Given the description of an element on the screen output the (x, y) to click on. 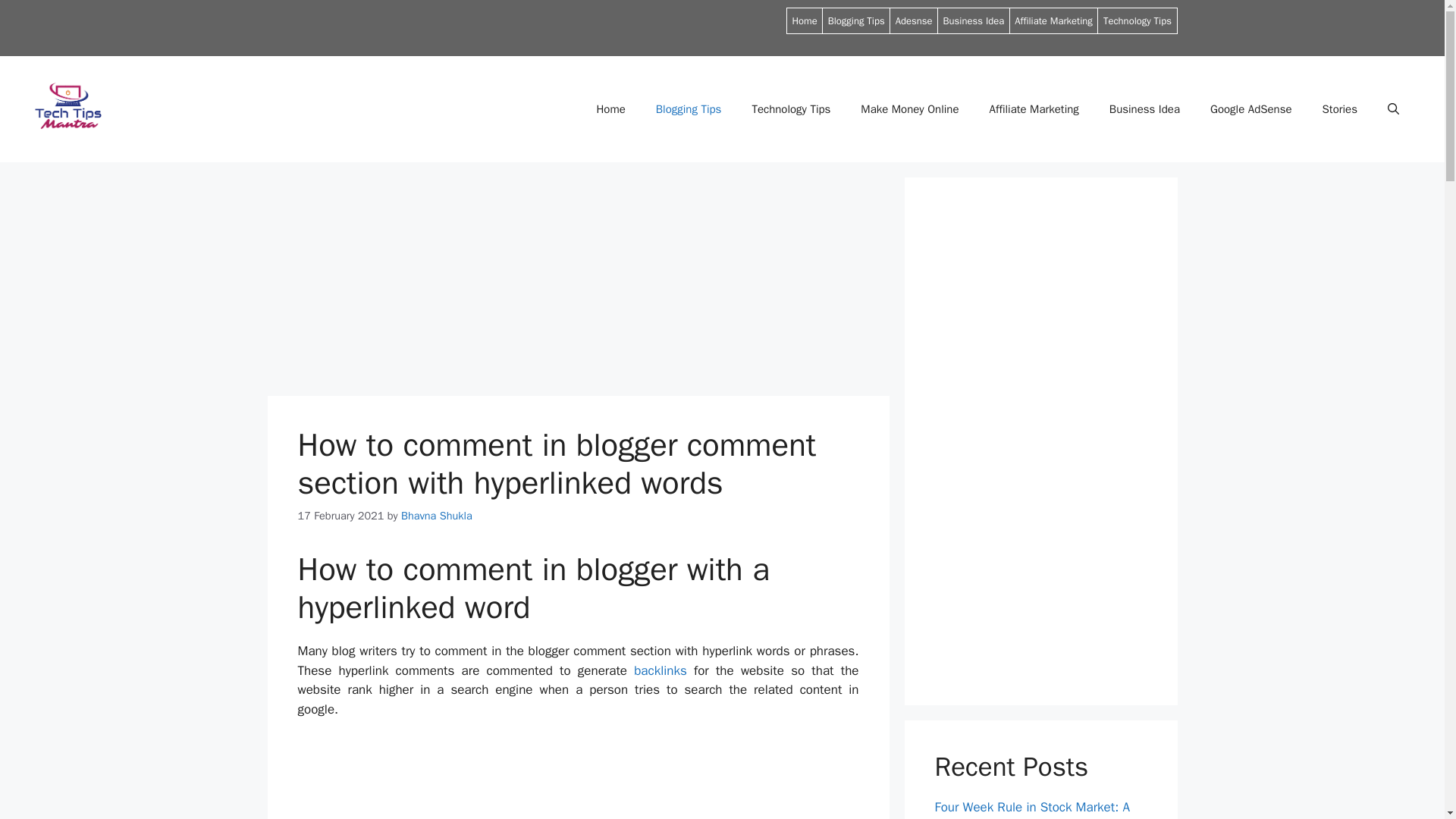
Business Idea (1144, 108)
Home (804, 19)
Technology Tips (1137, 19)
Stories (1340, 108)
View all posts by Bhavna Shukla (436, 515)
Technology Tips (790, 108)
Bhavna Shukla (436, 515)
Affiliate Marketing (1033, 108)
Blogging Tips (856, 19)
Blogging Tips (688, 108)
Make Money Online (909, 108)
Advertisement (578, 778)
Four Week Rule in Stock Market: A Strategy for Investors (1031, 809)
Adesnse (914, 19)
Business Idea (973, 19)
